Given the description of an element on the screen output the (x, y) to click on. 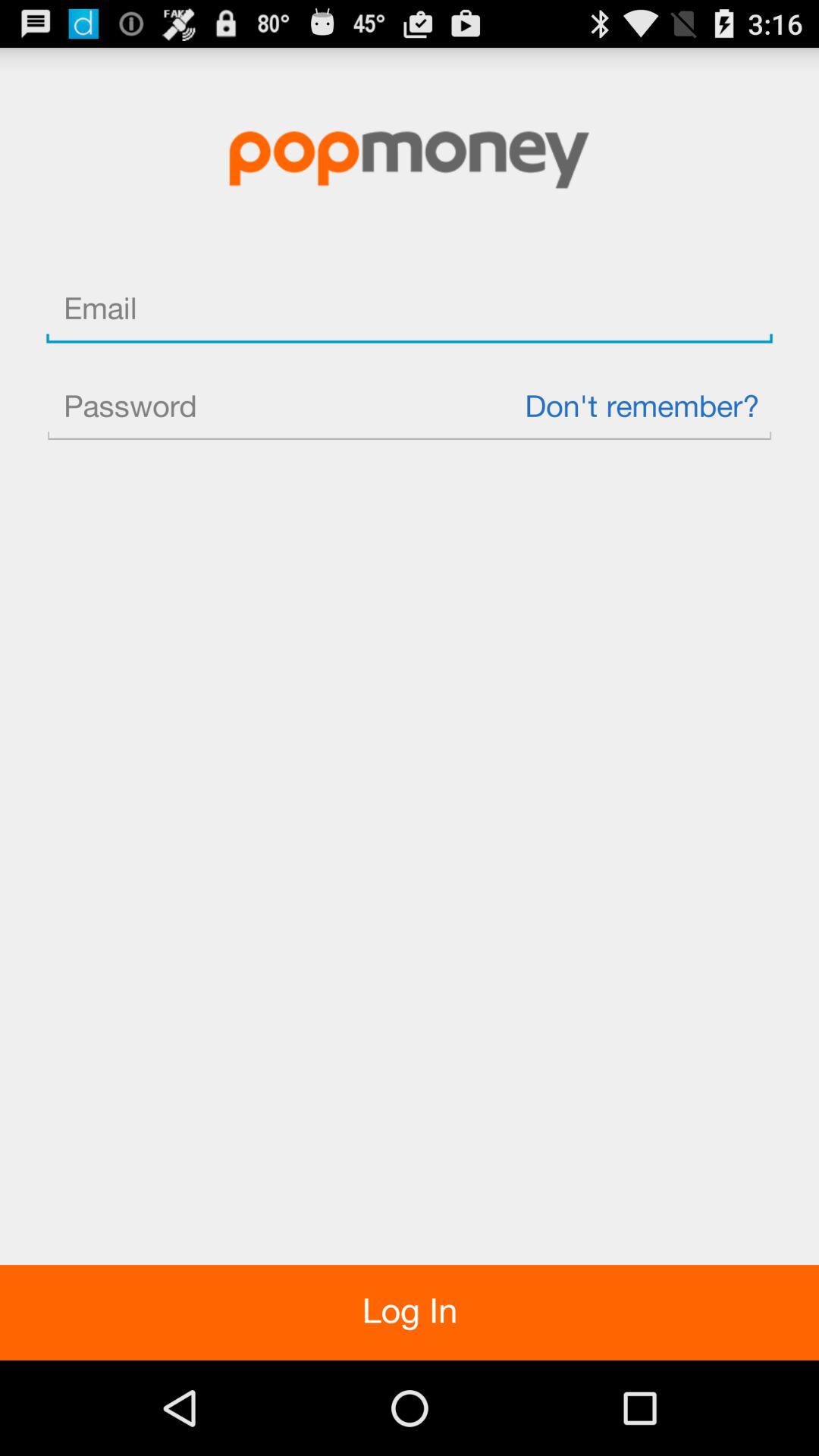
select item at the bottom (409, 1312)
